Given the description of an element on the screen output the (x, y) to click on. 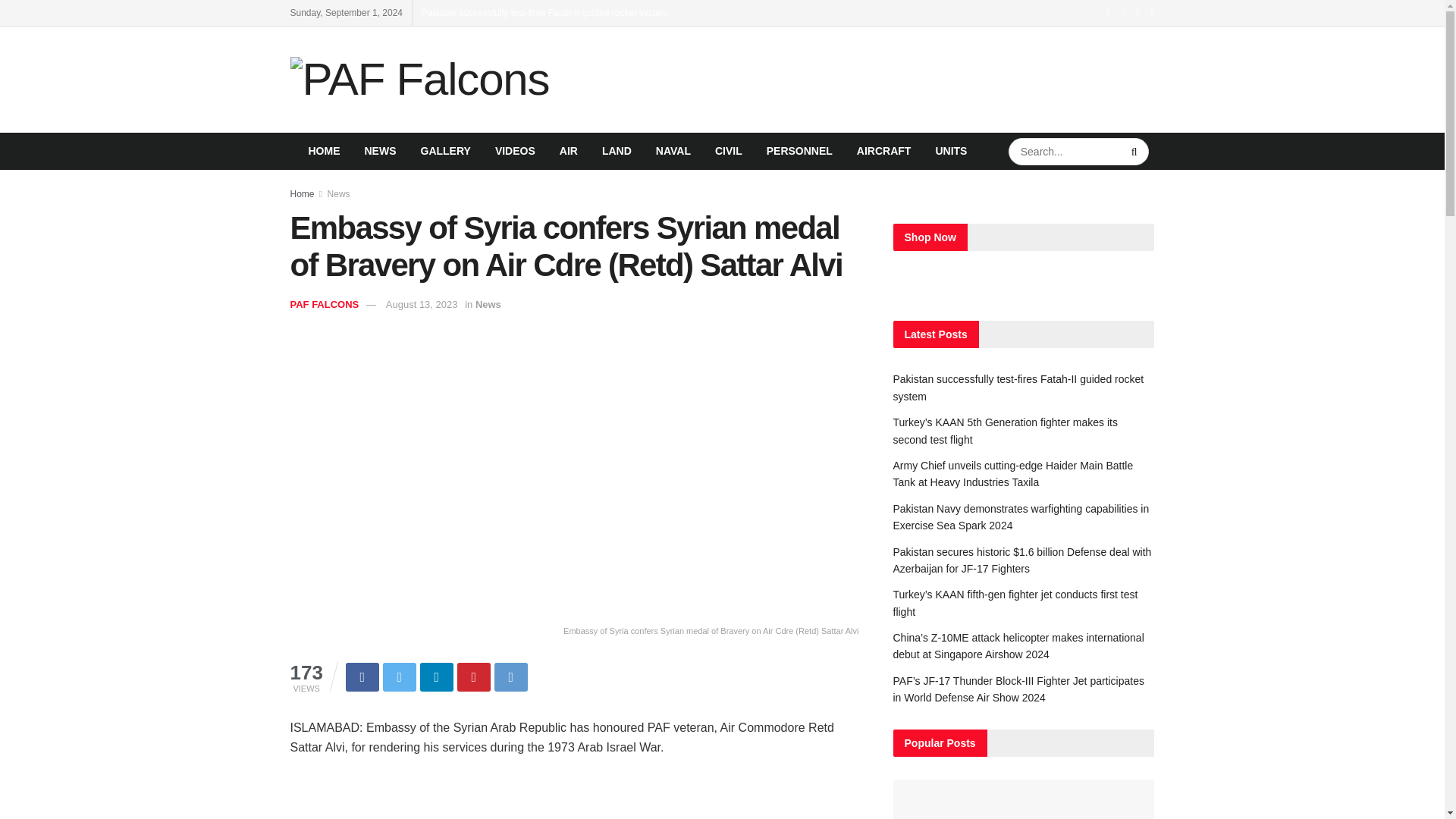
AIR (568, 150)
AIRCRAFT (883, 150)
PERSONNEL (799, 150)
NAVAL (673, 150)
CIVIL (728, 150)
LAND (616, 150)
HOME (323, 150)
GALLERY (444, 150)
VIDEOS (515, 150)
